Given the description of an element on the screen output the (x, y) to click on. 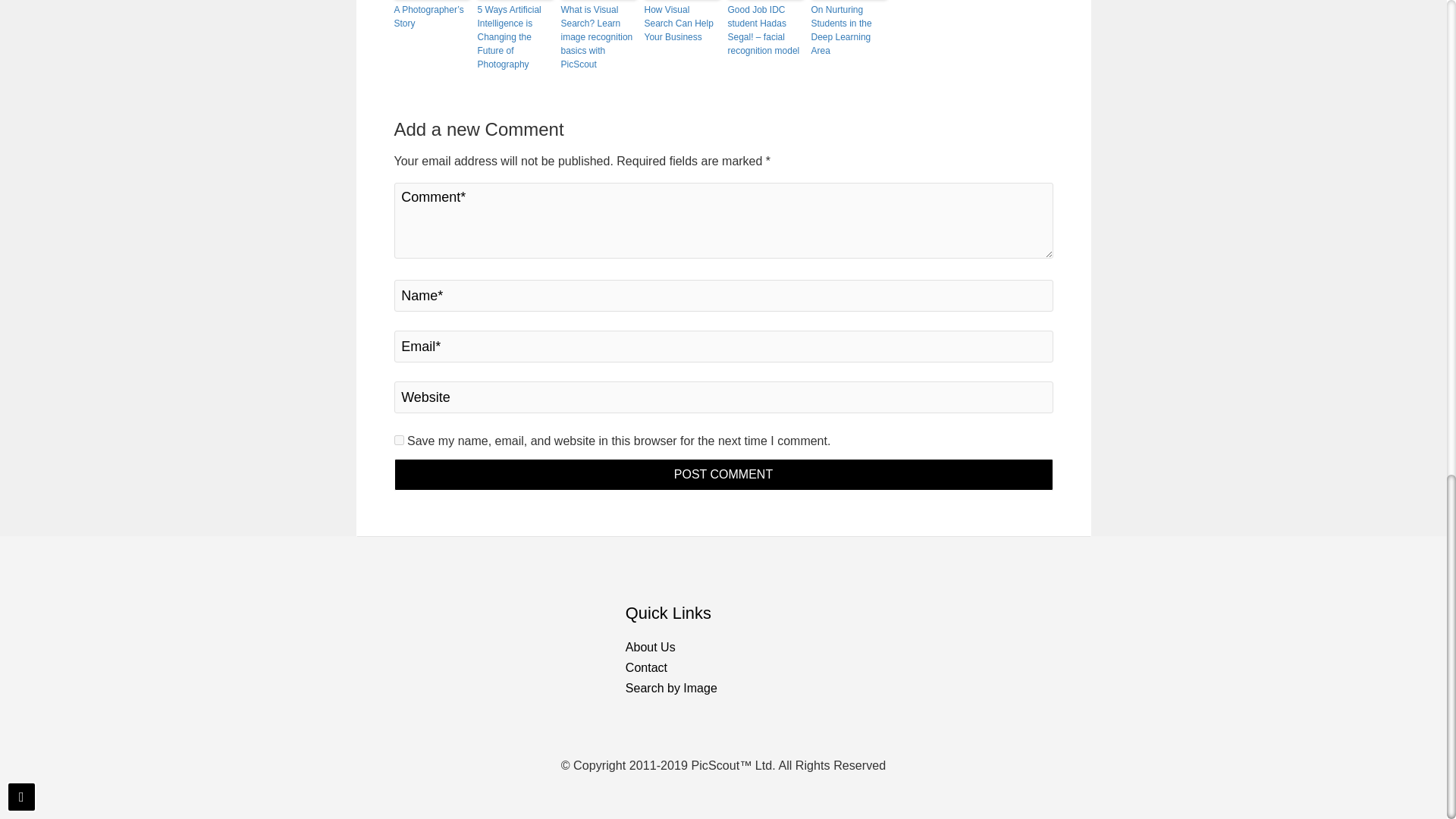
How Visual Search Can Help Your Business (682, 23)
youtube (1077, 600)
yes (399, 439)
facebook (997, 600)
Post Comment (723, 474)
twitter (1024, 600)
linkedin (1050, 600)
